Given the description of an element on the screen output the (x, y) to click on. 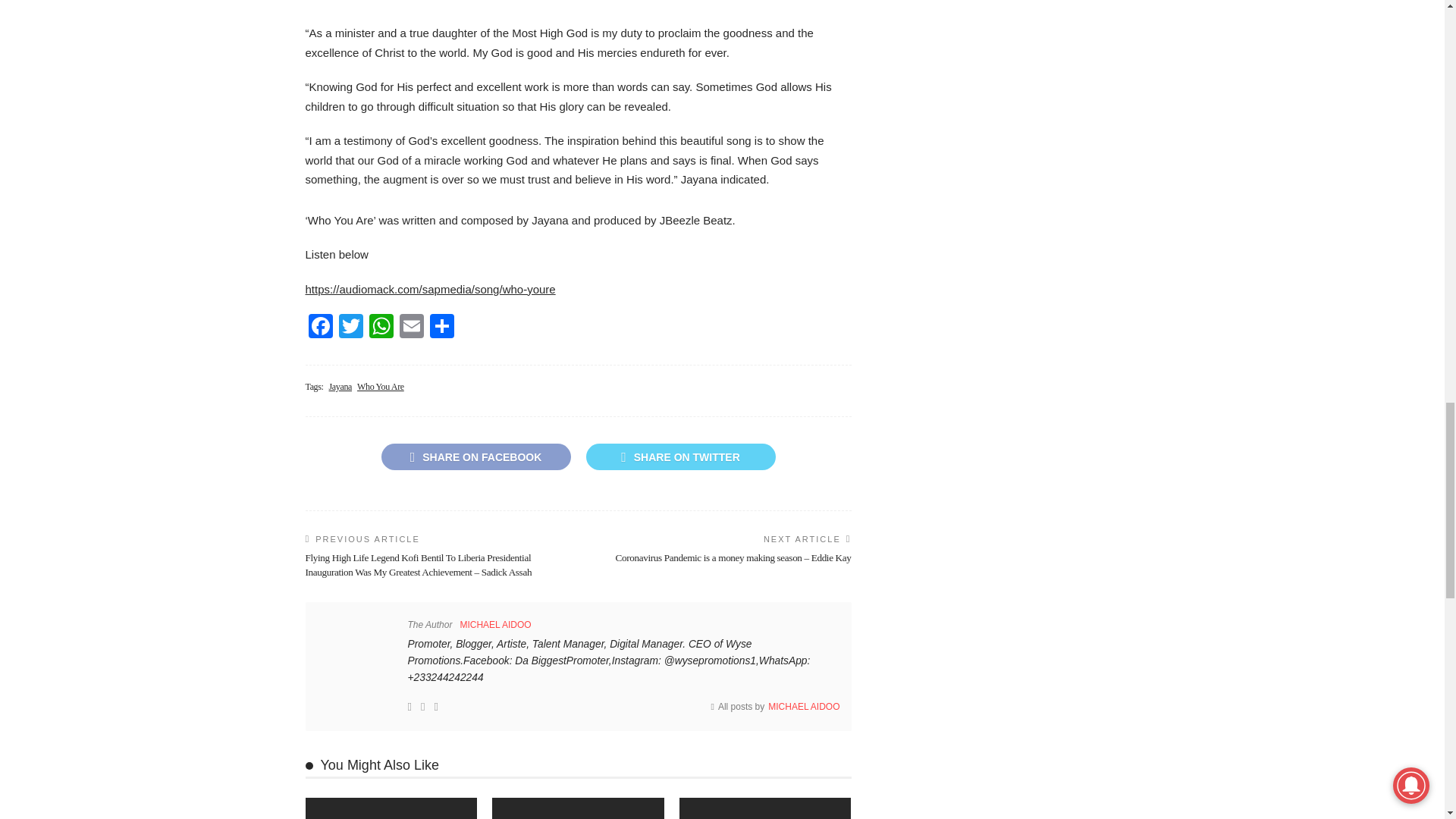
Who You Are (380, 386)
Facebook (319, 327)
Twitter (349, 327)
WhatsApp (380, 327)
Jayana (340, 386)
Email (411, 327)
